Given the description of an element on the screen output the (x, y) to click on. 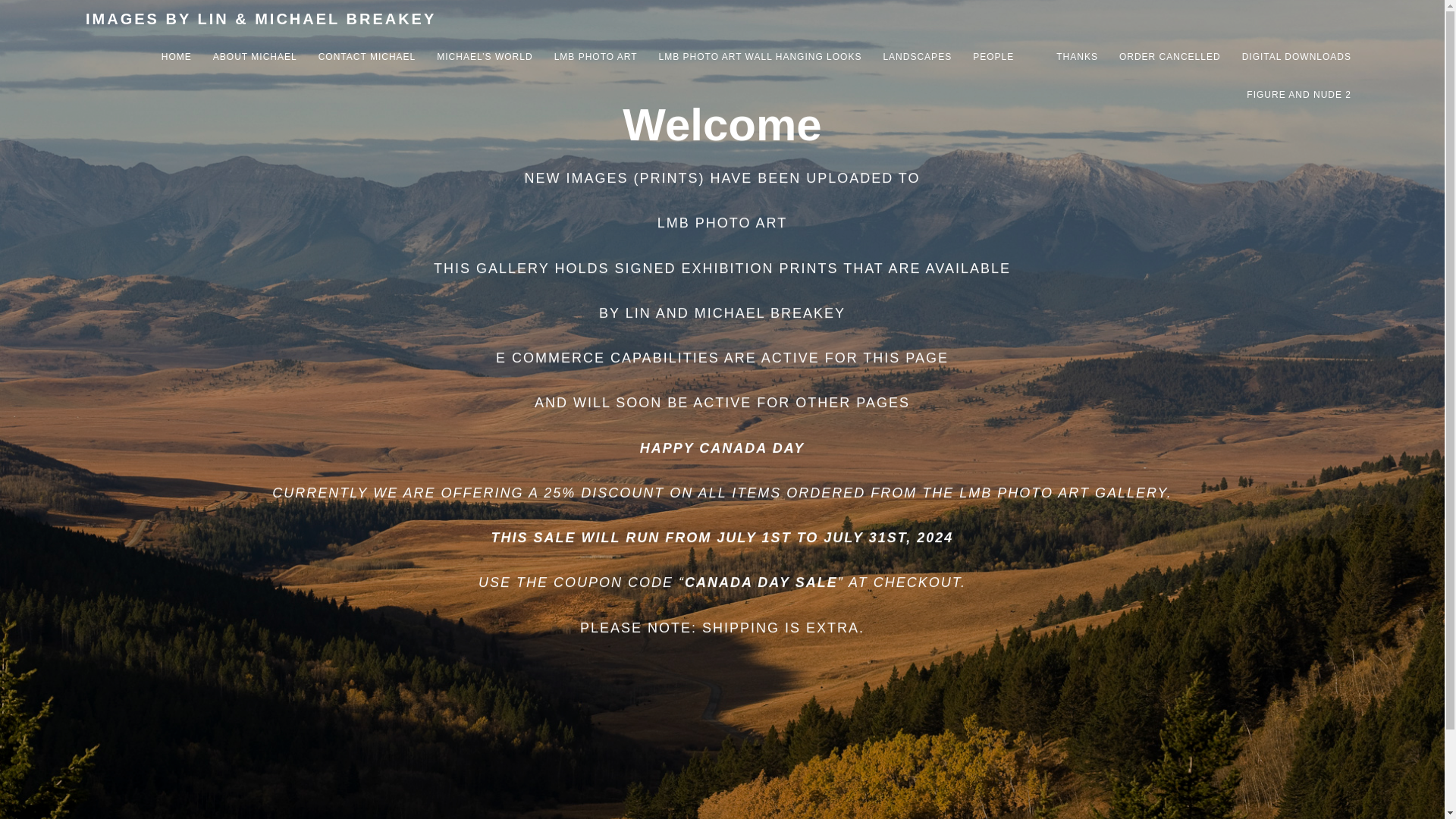
LMB PHOTO ART GALLERY (1062, 492)
LMB PHOTO ART WALL HANGING LOOKS (759, 56)
LMB PHOTO ART (596, 56)
LANDSCAPES (917, 56)
THANKS (1076, 56)
CONTACT MICHAEL (367, 56)
ORDER CANCELLED (1170, 56)
FIGURE AND NUDE 2 (1298, 94)
HOME (176, 56)
ABOUT MICHAEL (254, 56)
DIGITAL DOWNLOADS (1296, 56)
PEOPLE (993, 56)
